Given the description of an element on the screen output the (x, y) to click on. 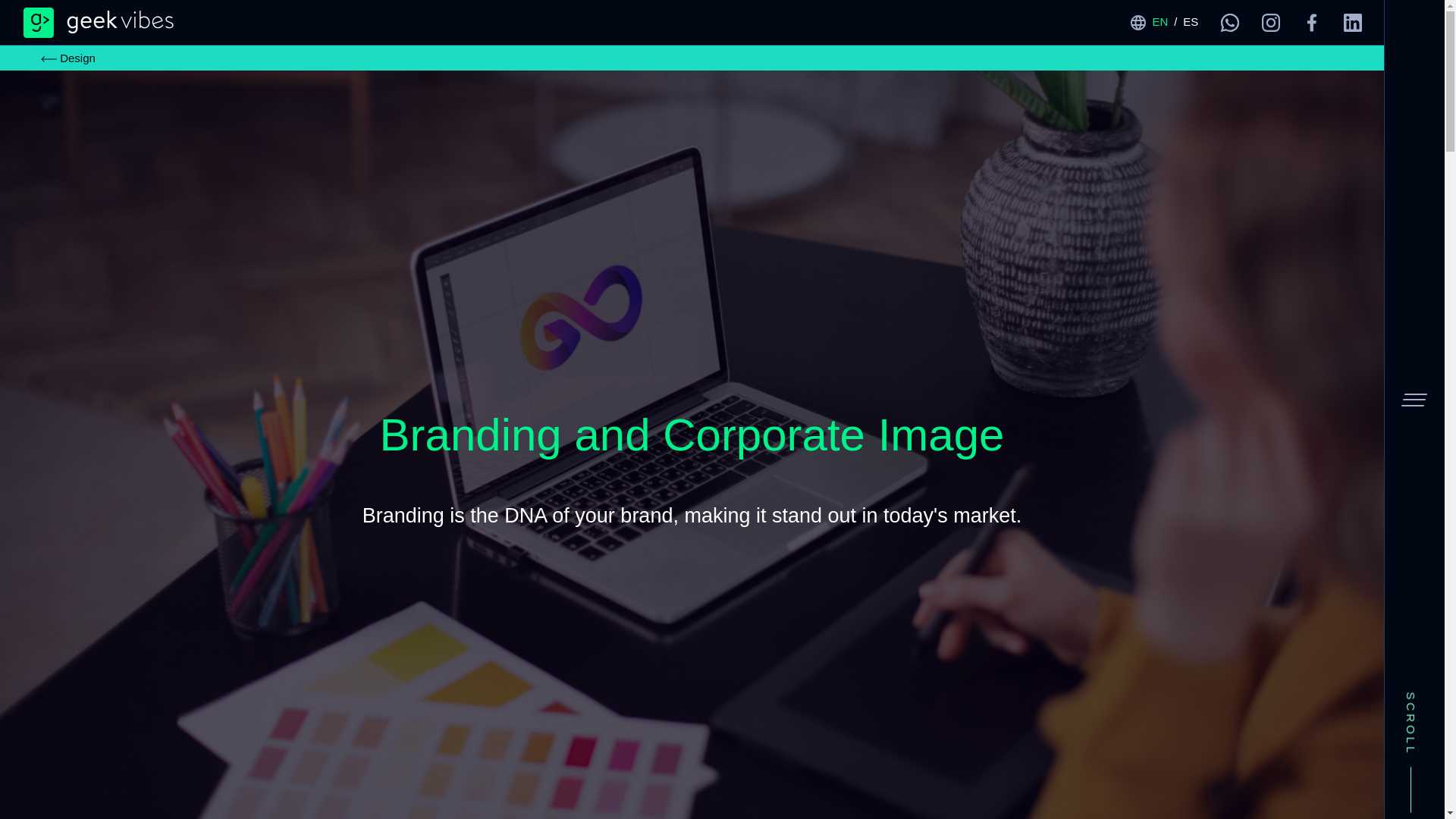
Design (68, 57)
